Given the description of an element on the screen output the (x, y) to click on. 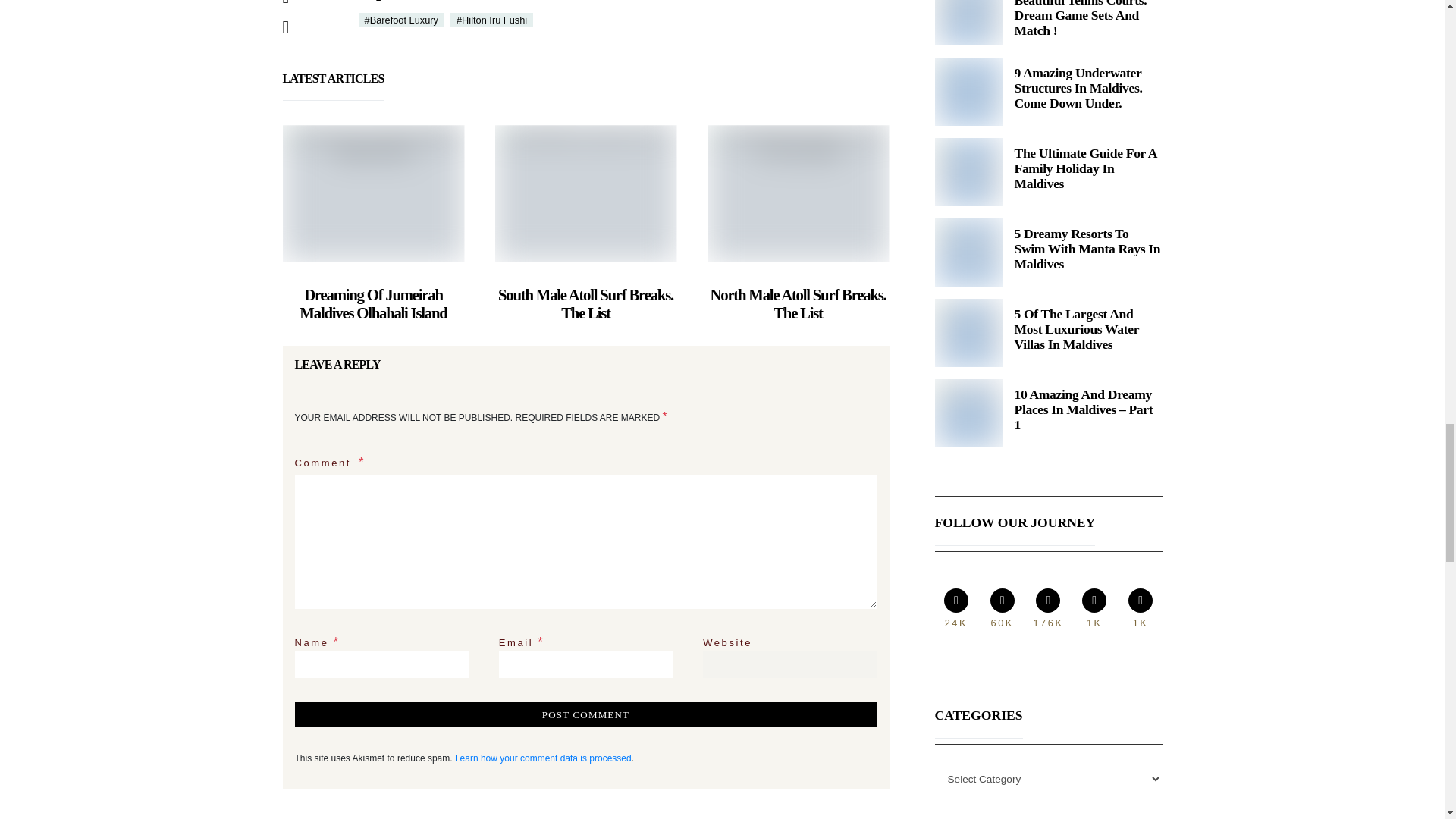
Post Comment (585, 714)
